Given the description of an element on the screen output the (x, y) to click on. 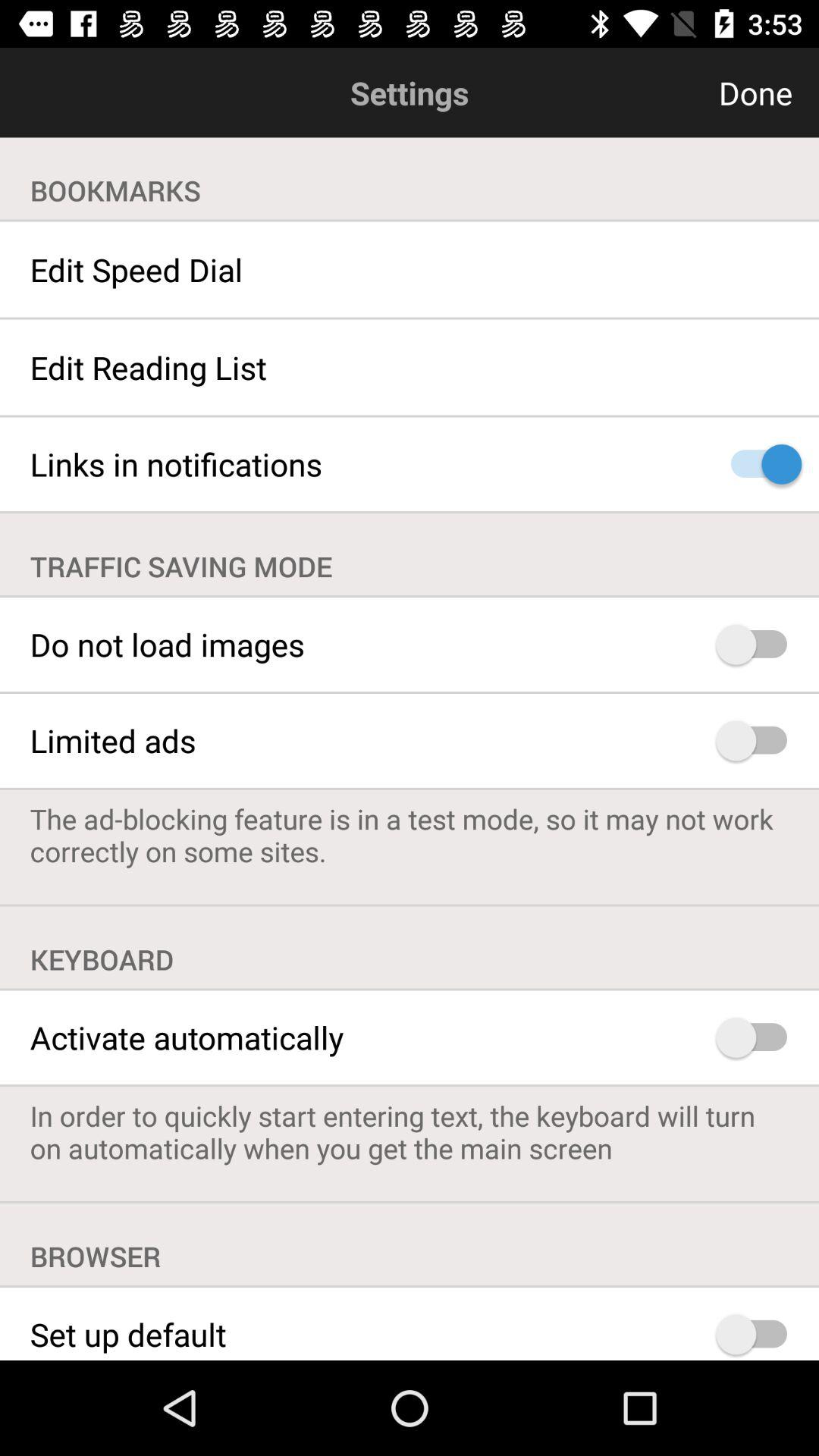
activate keyboard automatically (758, 1037)
